Given the description of an element on the screen output the (x, y) to click on. 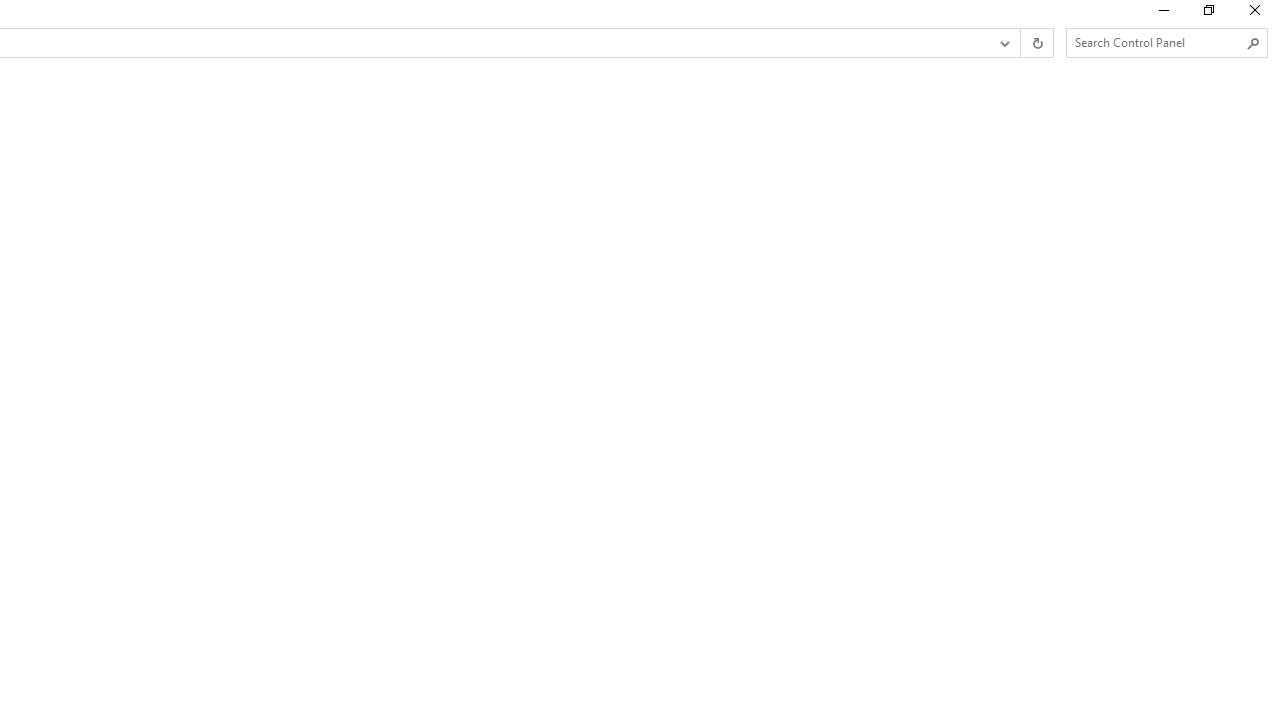
Restore (1208, 14)
Search (1253, 43)
Minimize (1162, 14)
Refresh "Windows Defender Firewall" (F5) (1036, 43)
Previous Locations (1003, 43)
Address band toolbar (1019, 43)
Search Box (1156, 42)
